Given the description of an element on the screen output the (x, y) to click on. 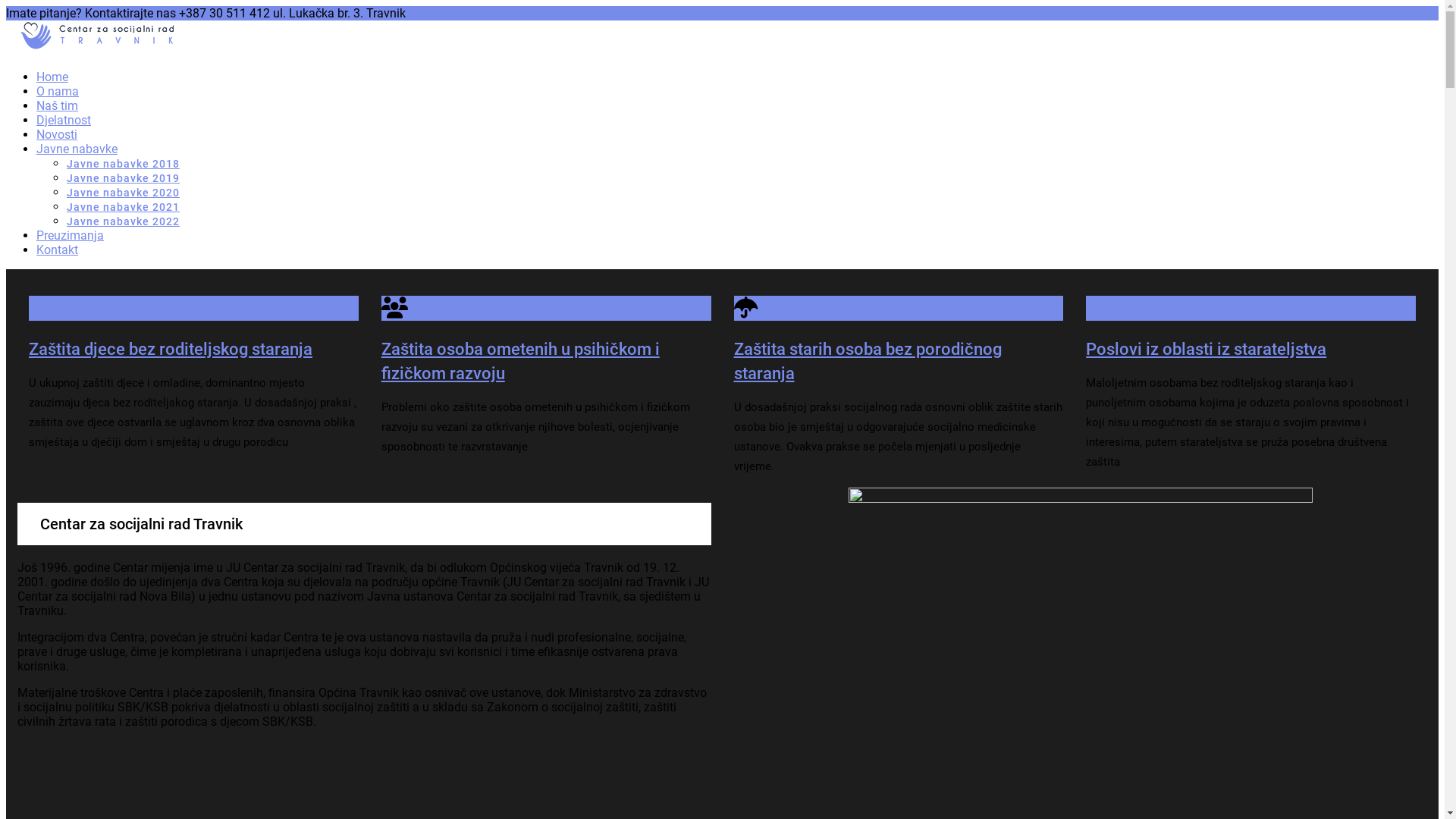
Novosti Element type: text (56, 134)
Preuzimanja Element type: text (69, 235)
Javne nabavke 2022 Element type: text (122, 221)
Kontakt Element type: text (57, 249)
Home Element type: text (52, 76)
Javne nabavke 2019 Element type: text (122, 178)
Javne nabavke Element type: text (76, 148)
Javne nabavke 2018 Element type: text (122, 163)
Poslovi iz oblasti iz starateljstva Element type: text (1205, 348)
Javne nabavke 2021 Element type: text (122, 206)
JU Centar za socijalni rad Travnik Element type: hover (94, 50)
O nama Element type: text (57, 91)
Javne nabavke 2020 Element type: text (122, 192)
Djelatnost Element type: text (63, 119)
